Given the description of an element on the screen output the (x, y) to click on. 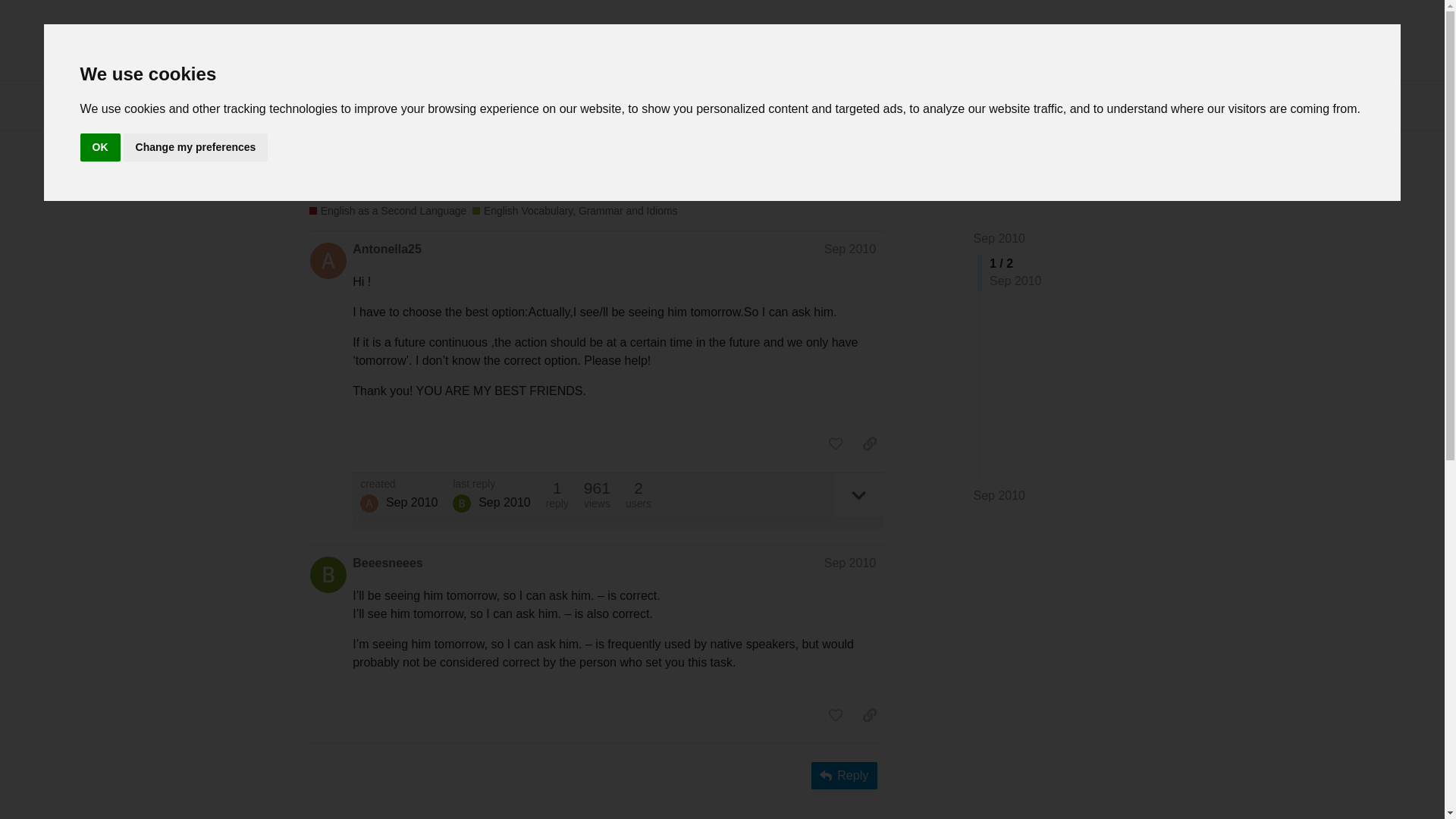
expand topic details (857, 495)
Beeesneees (387, 563)
Jump to the last post (1000, 495)
Antonella25 (368, 503)
menu (1117, 104)
Shop (921, 42)
Sep 2010 (850, 562)
Antonella25 (387, 248)
English as a Second Language (386, 210)
Newsletter (855, 42)
Back to english.best (1079, 42)
Privacy (981, 42)
Sep 2010 (1000, 237)
Post date (850, 248)
Newsletter (855, 42)
